Given the description of an element on the screen output the (x, y) to click on. 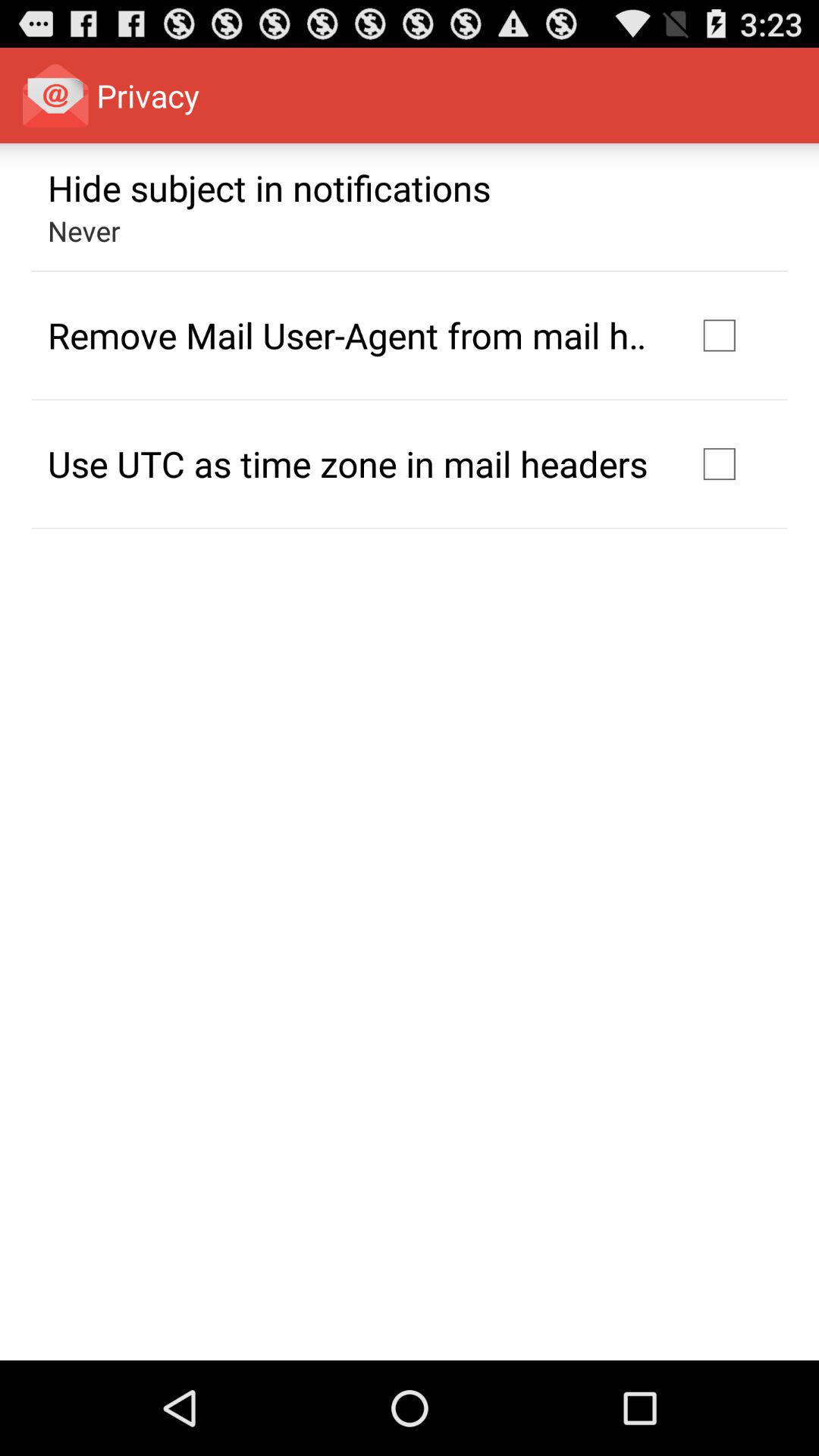
open app below never item (351, 335)
